Given the description of an element on the screen output the (x, y) to click on. 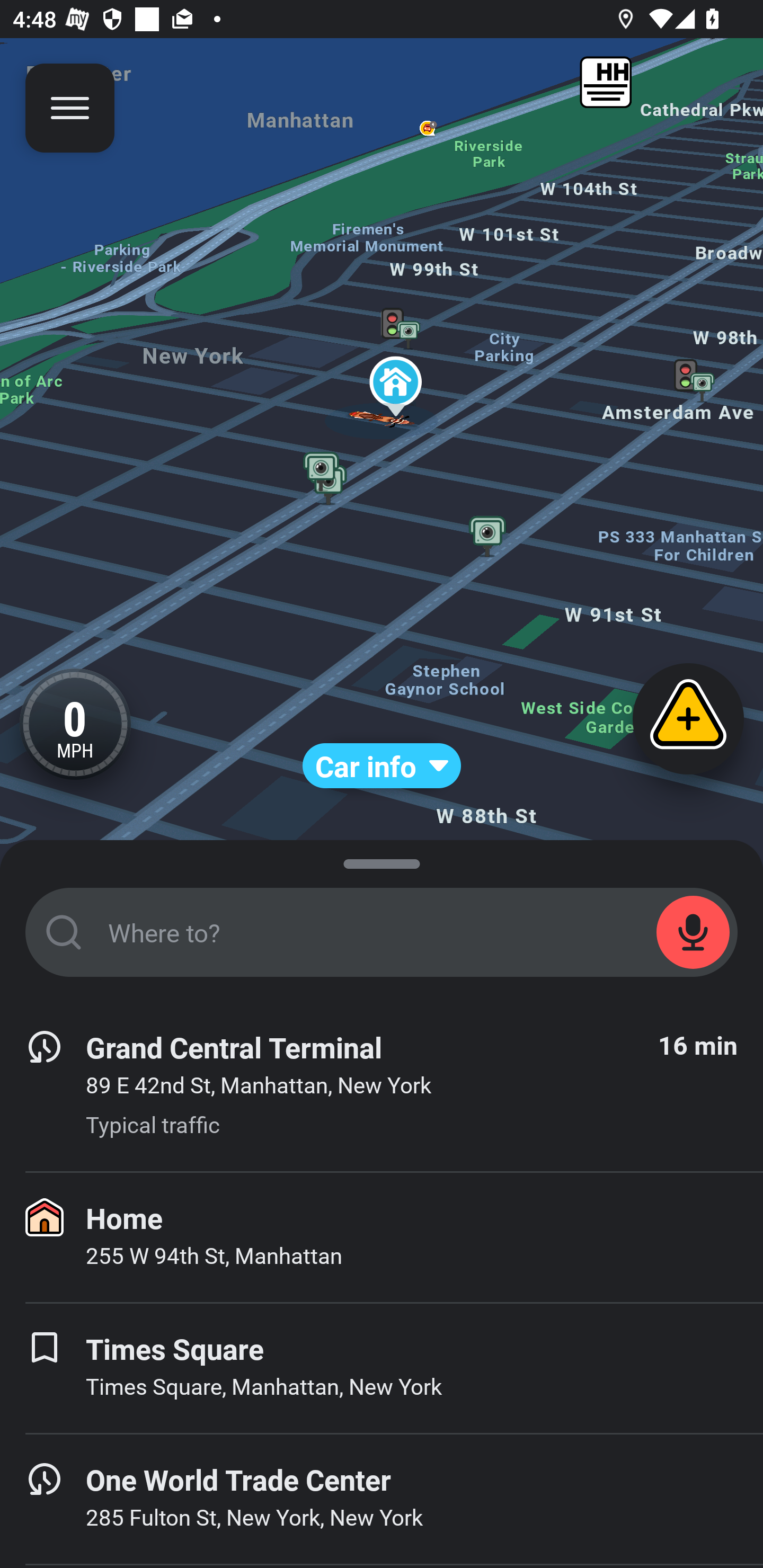
Car info (381, 765)
SUGGESTIONS_SHEET_DRAG_HANDLE (381, 860)
START_STATE_SEARCH_FIELD Where to? (381, 931)
Home 255 W 94th St, Manhattan (381, 1236)
Times Square Times Square, Manhattan, New York (381, 1368)
